Given the description of an element on the screen output the (x, y) to click on. 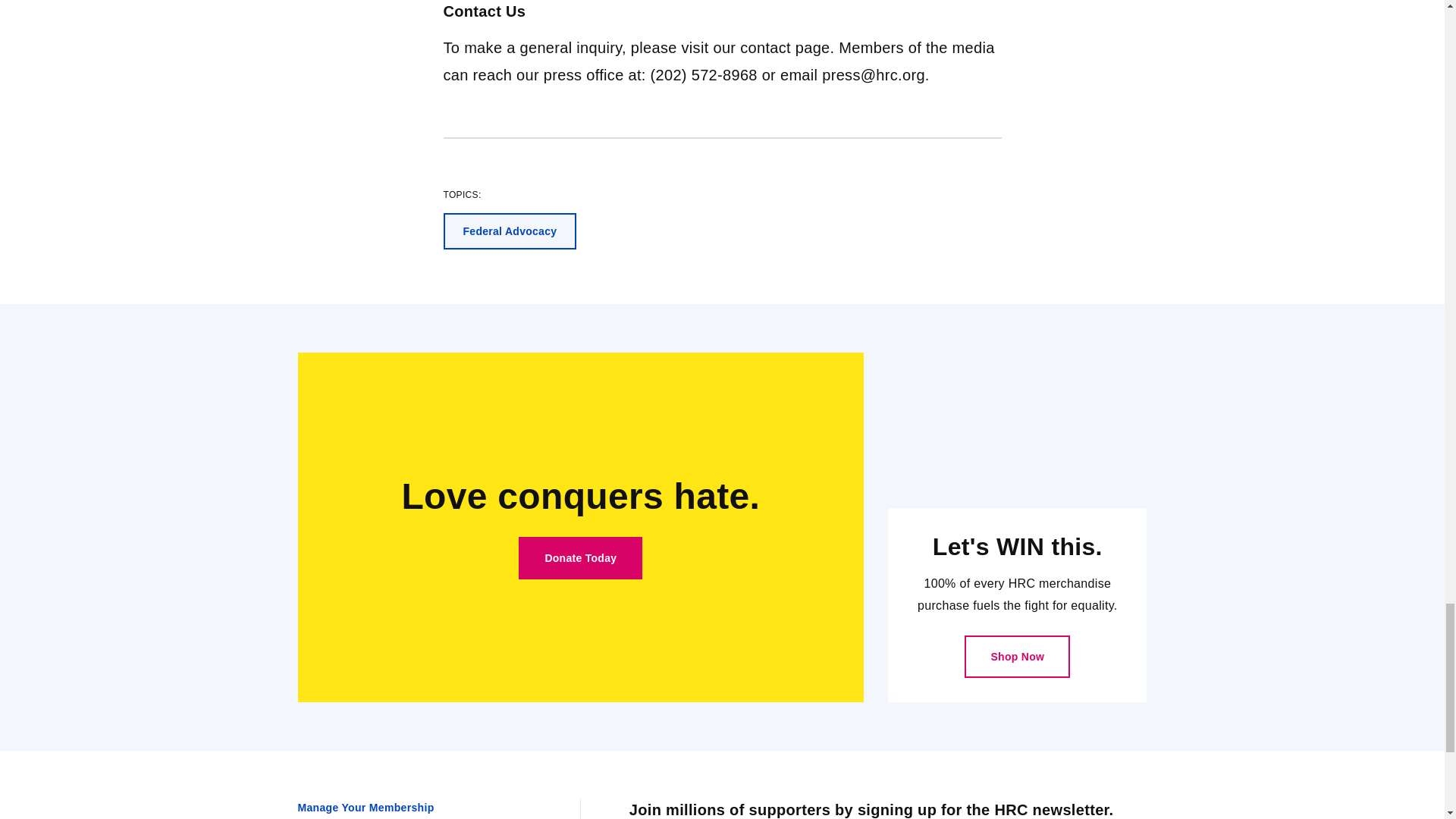
Shop Now (1016, 656)
Federal Advocacy (509, 230)
Donate Today (580, 558)
